Given the description of an element on the screen output the (x, y) to click on. 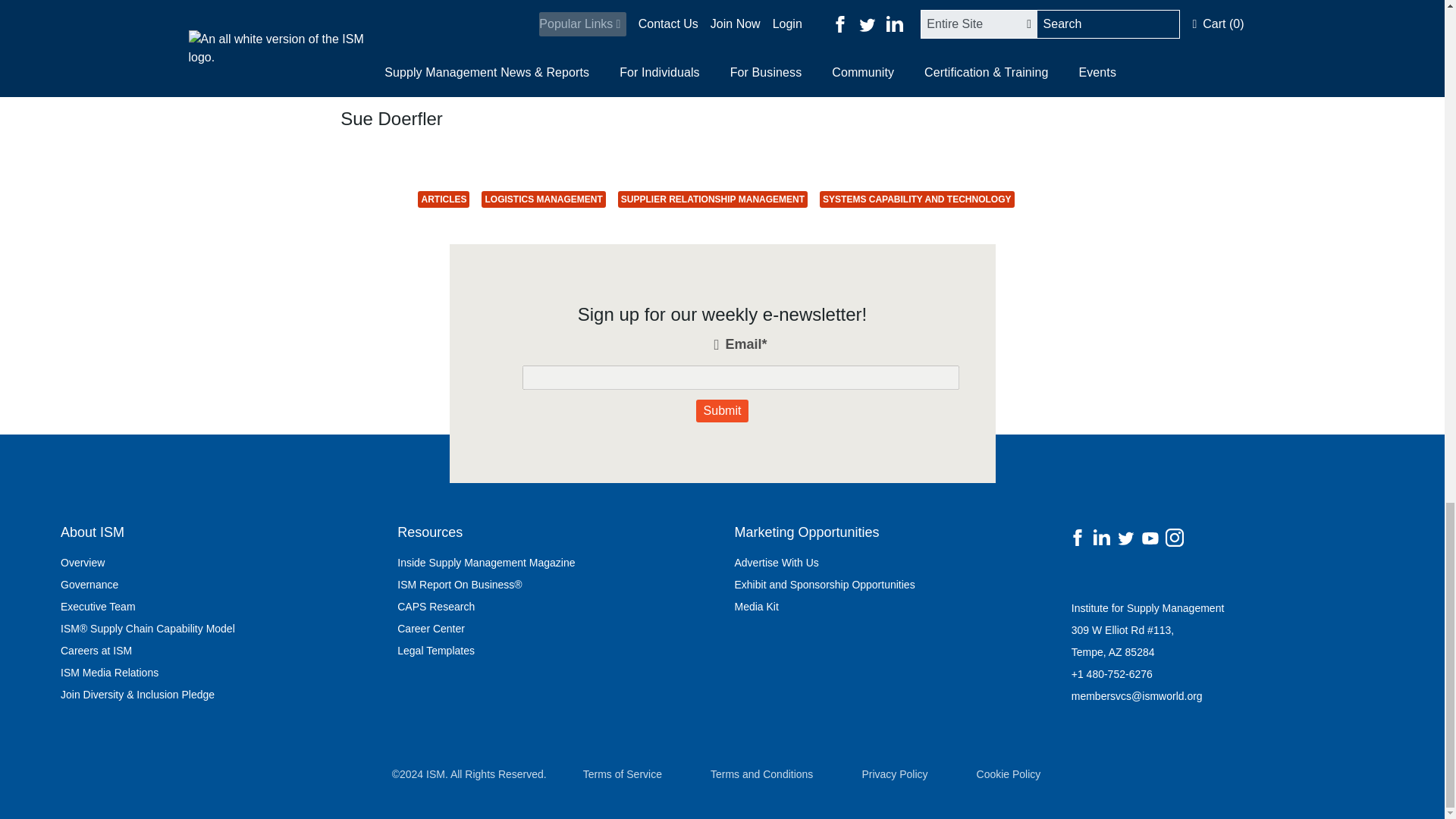
Submit (722, 410)
